Given the description of an element on the screen output the (x, y) to click on. 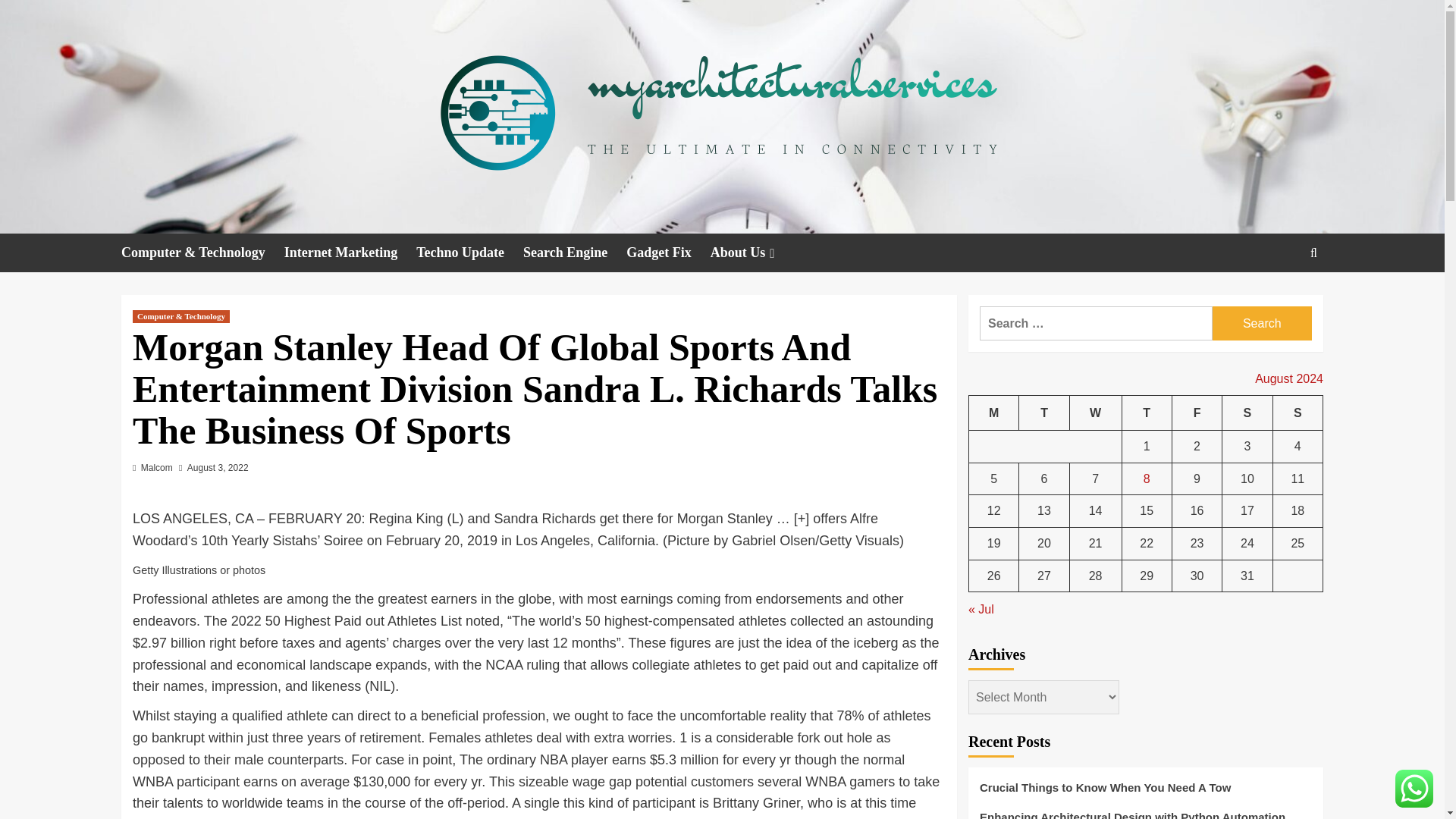
Search (1278, 298)
About Us (753, 252)
Tuesday (1043, 412)
Thursday (1146, 412)
Malcom (157, 467)
Friday (1196, 412)
Gadget Fix (668, 252)
Search Engine (574, 252)
Internet Marketing (349, 252)
Search (1261, 323)
August 3, 2022 (217, 467)
Saturday (1247, 412)
Techno Update (469, 252)
Search (1261, 323)
Sunday (1297, 412)
